Given the description of an element on the screen output the (x, y) to click on. 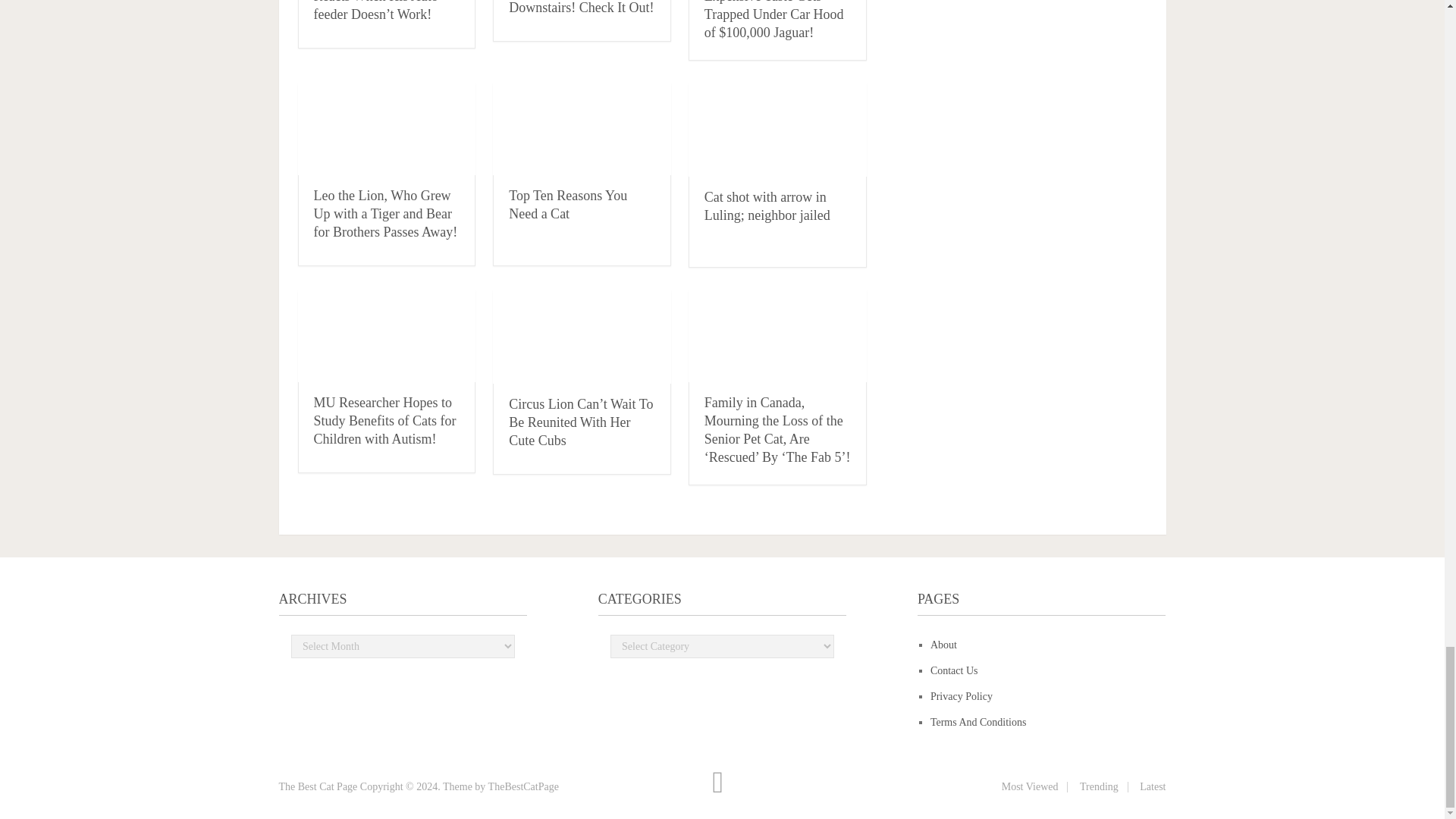
Cat shot with arrow in Luling; neighbor jailed (766, 205)
Top Ten Reasons You Need a Cat (582, 129)
Top Ten Reasons You Need a Cat (567, 204)
